Given the description of an element on the screen output the (x, y) to click on. 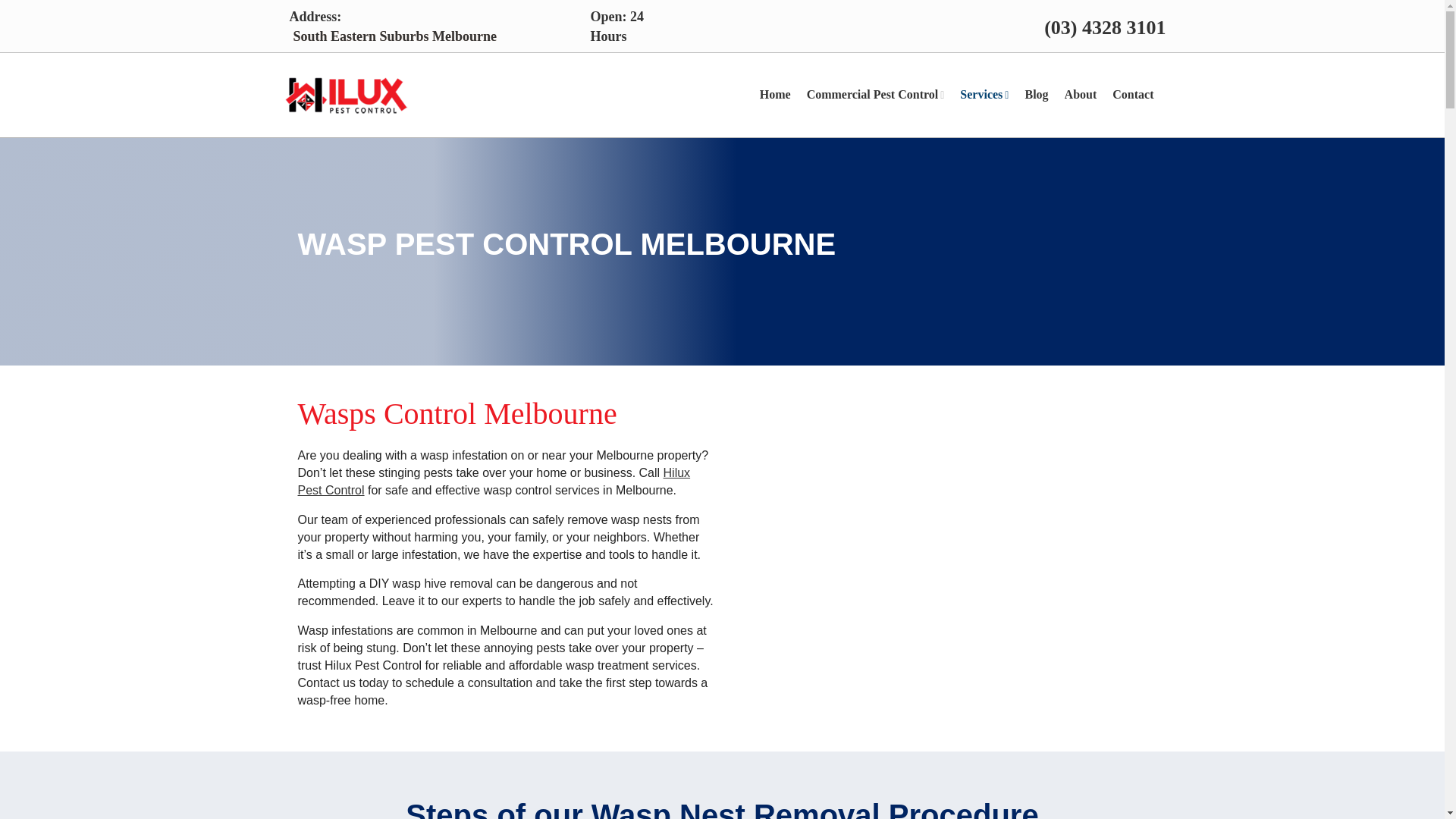
Hilux Pest Control (493, 481)
Commercial Pest Control (883, 95)
South Eastern Suburbs Melbourne (393, 36)
